Given the description of an element on the screen output the (x, y) to click on. 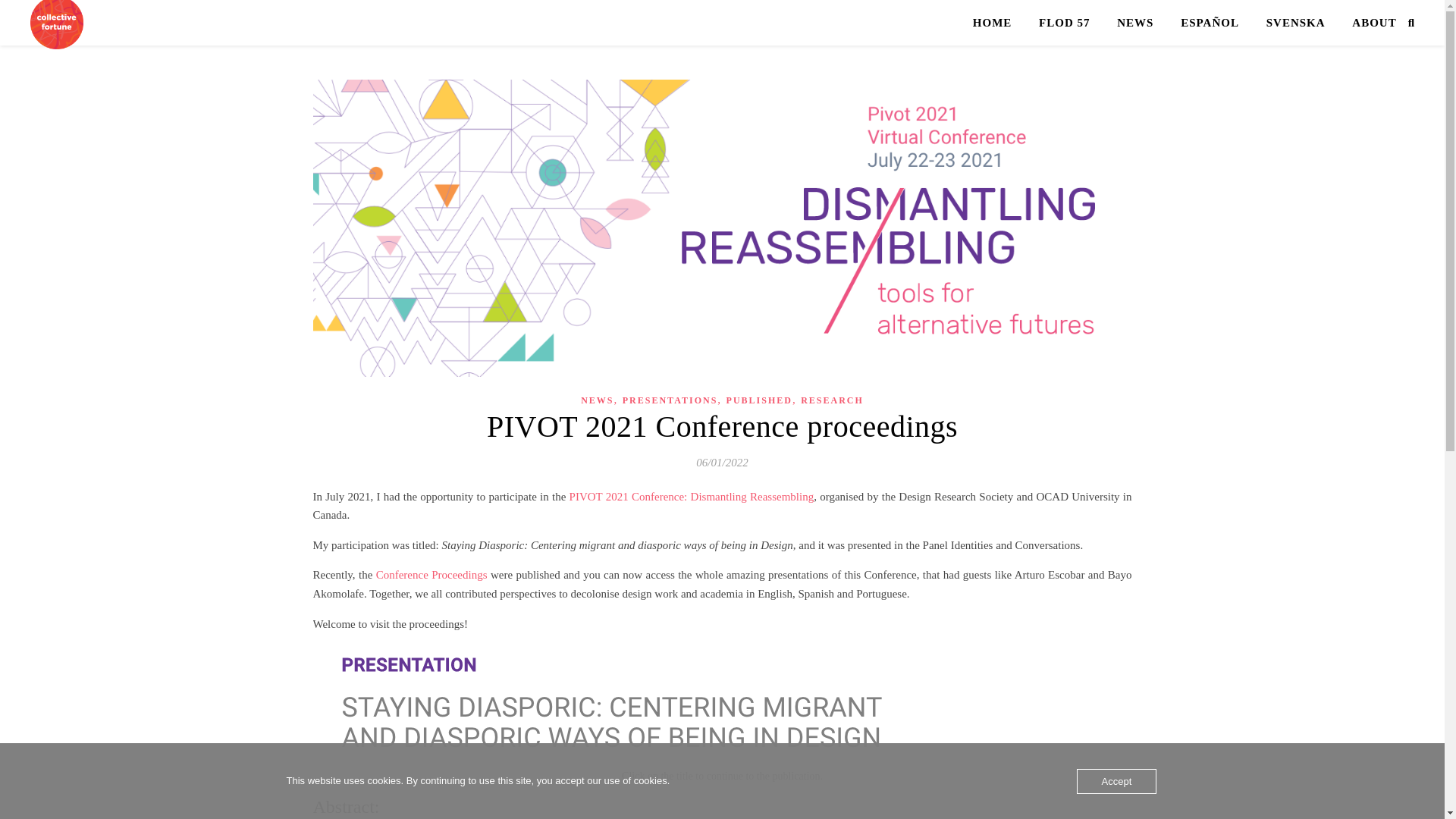
Collective fortune (56, 24)
PIVOT 2021 Conference: Dismantling Reassembling (691, 496)
PUBLISHED (759, 400)
RESEARCH (831, 400)
NEWS (1135, 22)
FLOD 57 (1064, 22)
PRESENTATIONS (670, 400)
ABOUT (1367, 22)
Conference Proceedings (431, 574)
SVENSKA (1295, 22)
HOME (998, 22)
NEWS (596, 400)
